Given the description of an element on the screen output the (x, y) to click on. 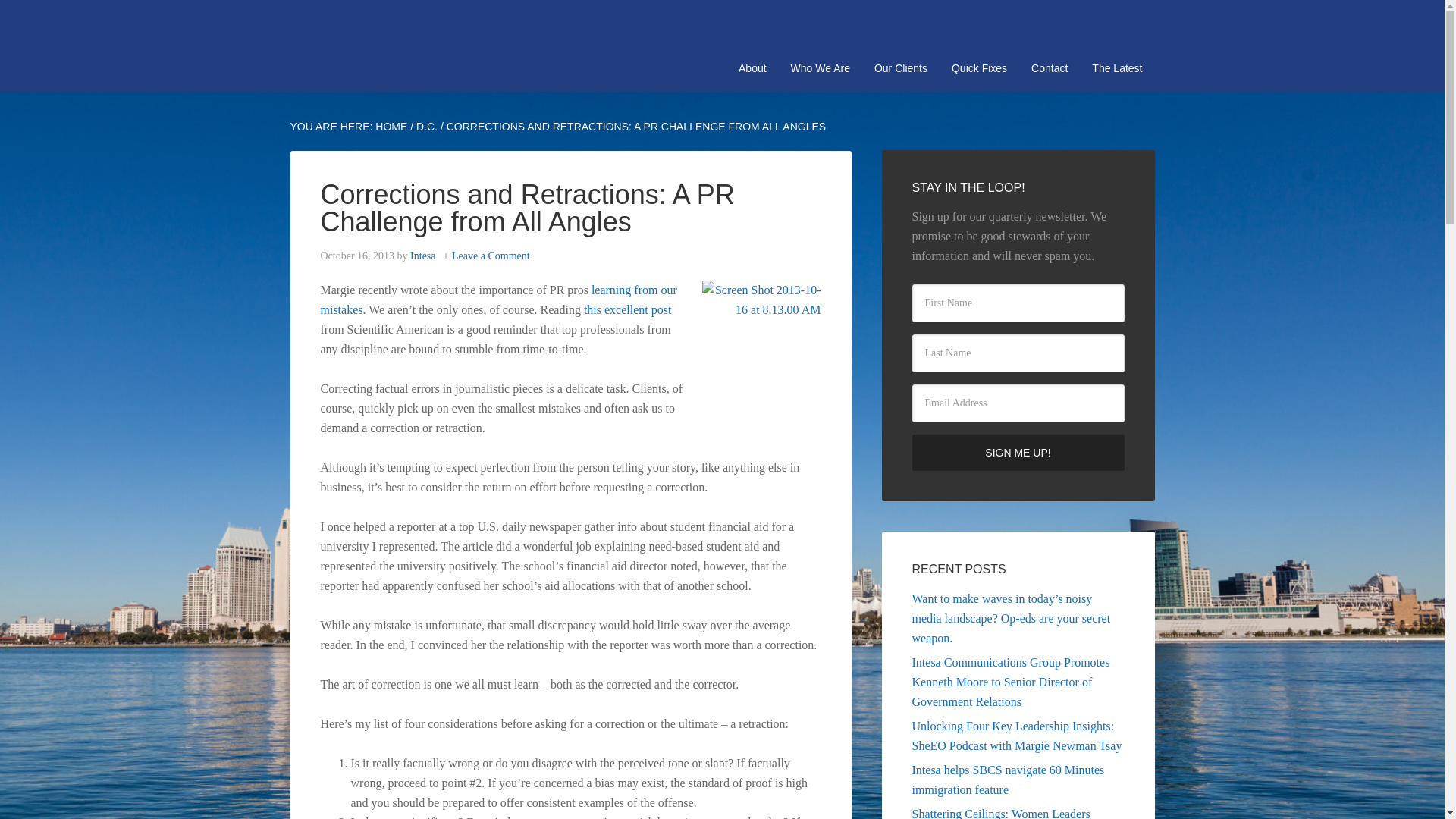
Quick Fixes (979, 68)
The Latest (1117, 68)
Sign me up! (1017, 452)
Leave a Comment (490, 255)
D.C. (427, 126)
HOME (391, 126)
Intesa helps SBCS navigate 60 Minutes immigration feature (1007, 779)
learning from our mistakes (498, 299)
Shattering Ceilings: Women Leaders Paving the Way at Intesa (1000, 813)
Intesa (422, 255)
About (752, 68)
Our Clients (900, 68)
Who We Are (819, 68)
